Given the description of an element on the screen output the (x, y) to click on. 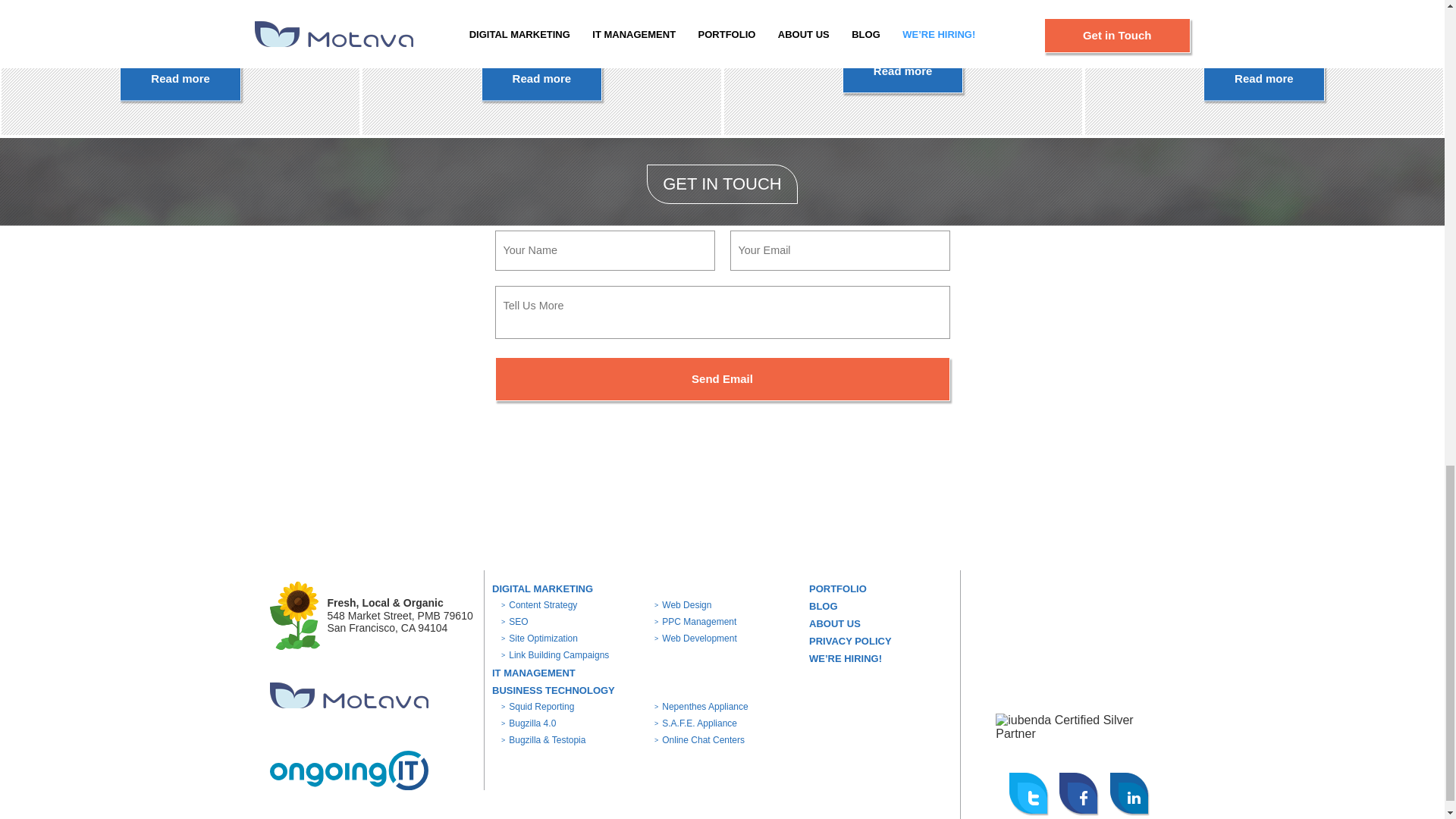
Content Strategy (537, 604)
Send Email (722, 379)
Link Building Campaigns (553, 655)
Motava (902, 67)
Send Email (348, 695)
DIGITAL MARKETING (722, 379)
Web Design (542, 588)
Site Optimization (681, 604)
SEO (538, 638)
